Given the description of an element on the screen output the (x, y) to click on. 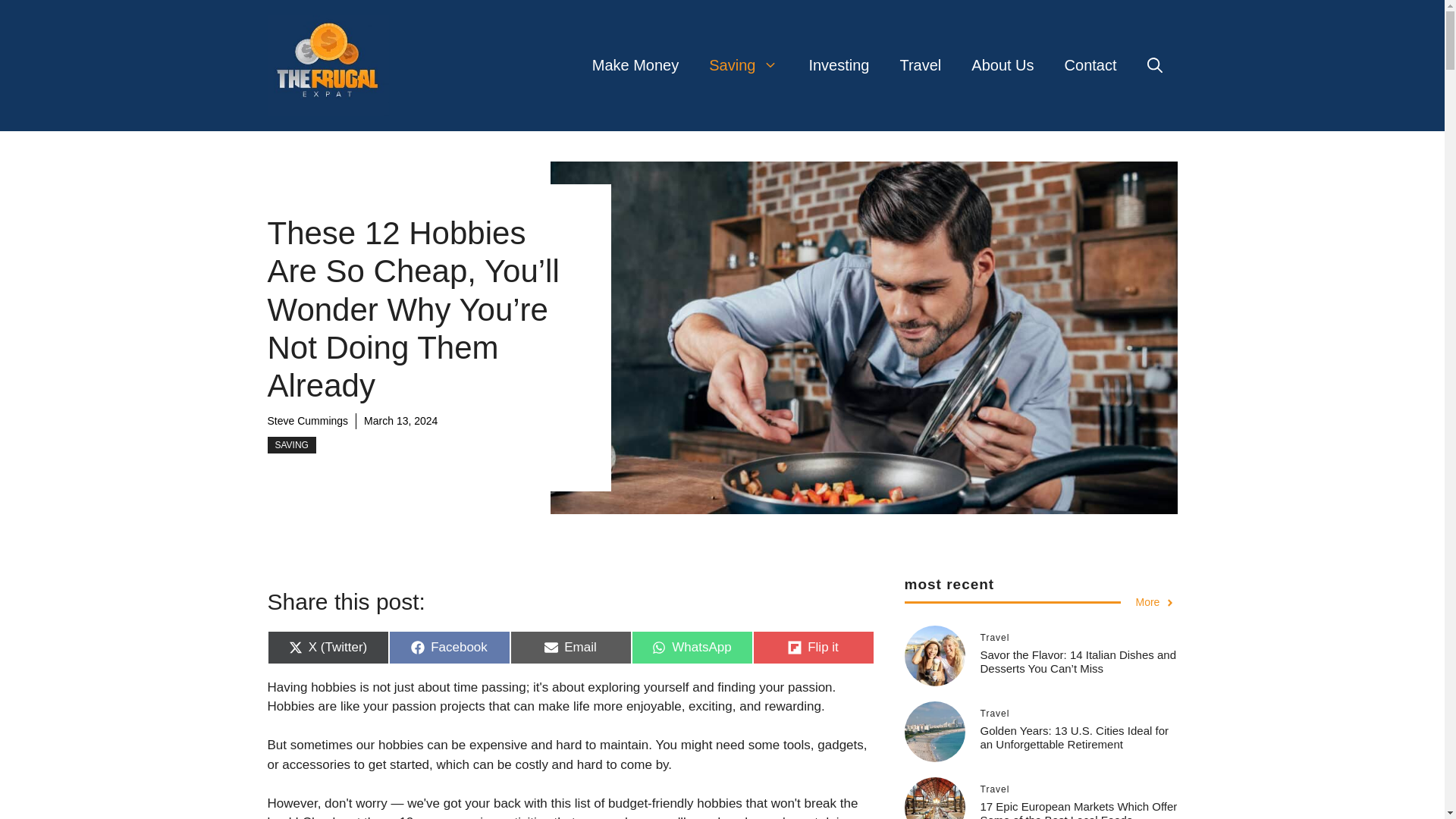
Saving (569, 647)
Steve Cummings (743, 64)
Contact (306, 420)
Make Money (1090, 64)
Travel (448, 647)
SAVING (635, 64)
Investing (691, 647)
More (919, 64)
About Us (290, 444)
